Given the description of an element on the screen output the (x, y) to click on. 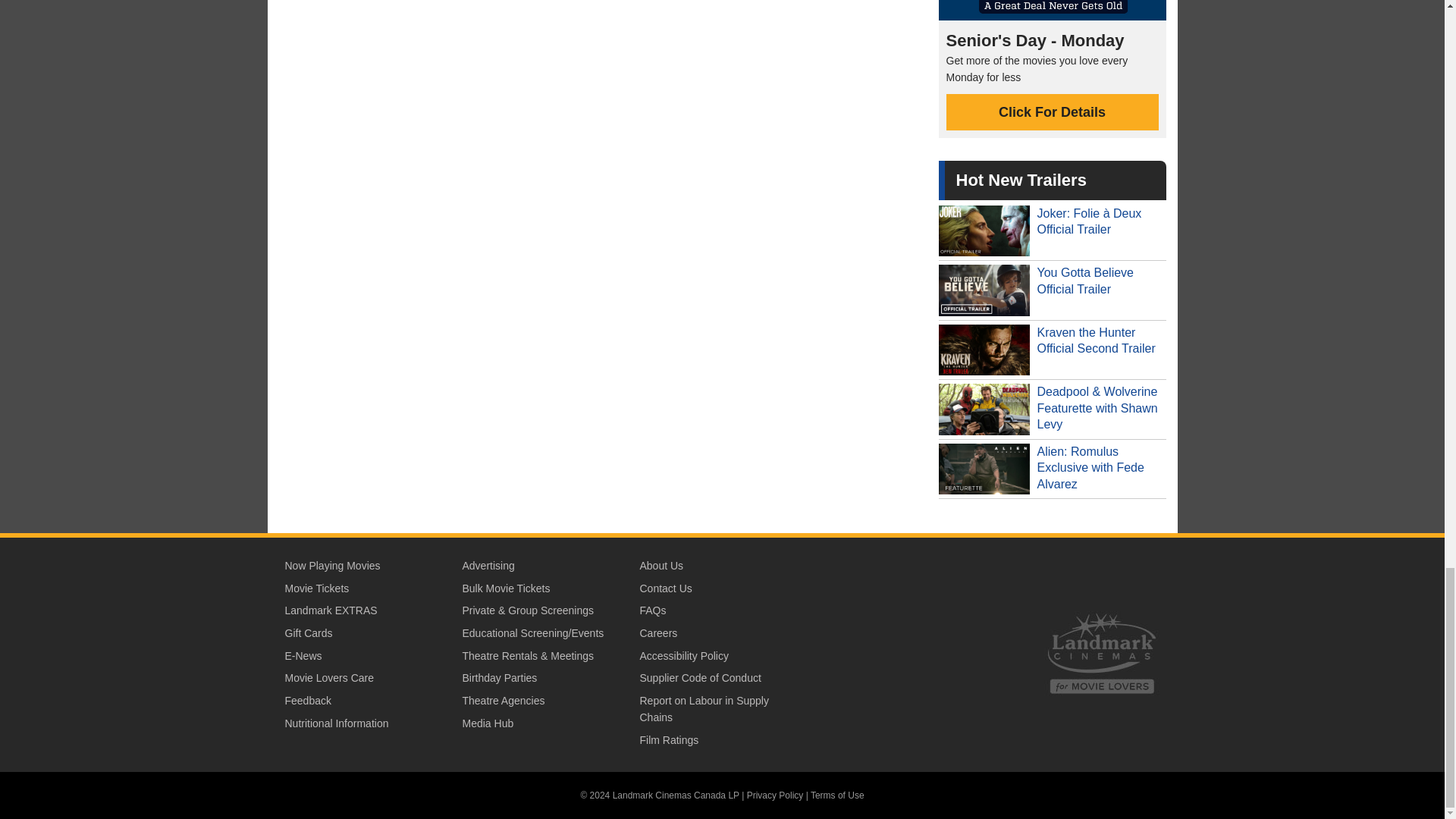
Alien: Romulus Exclusive with Fede Alvarez (1052, 468)
You Gotta Believe Official Trailer (1052, 290)
Click For Details (1052, 112)
Kraven the Hunter Official Second Trailer (1052, 350)
